Given the description of an element on the screen output the (x, y) to click on. 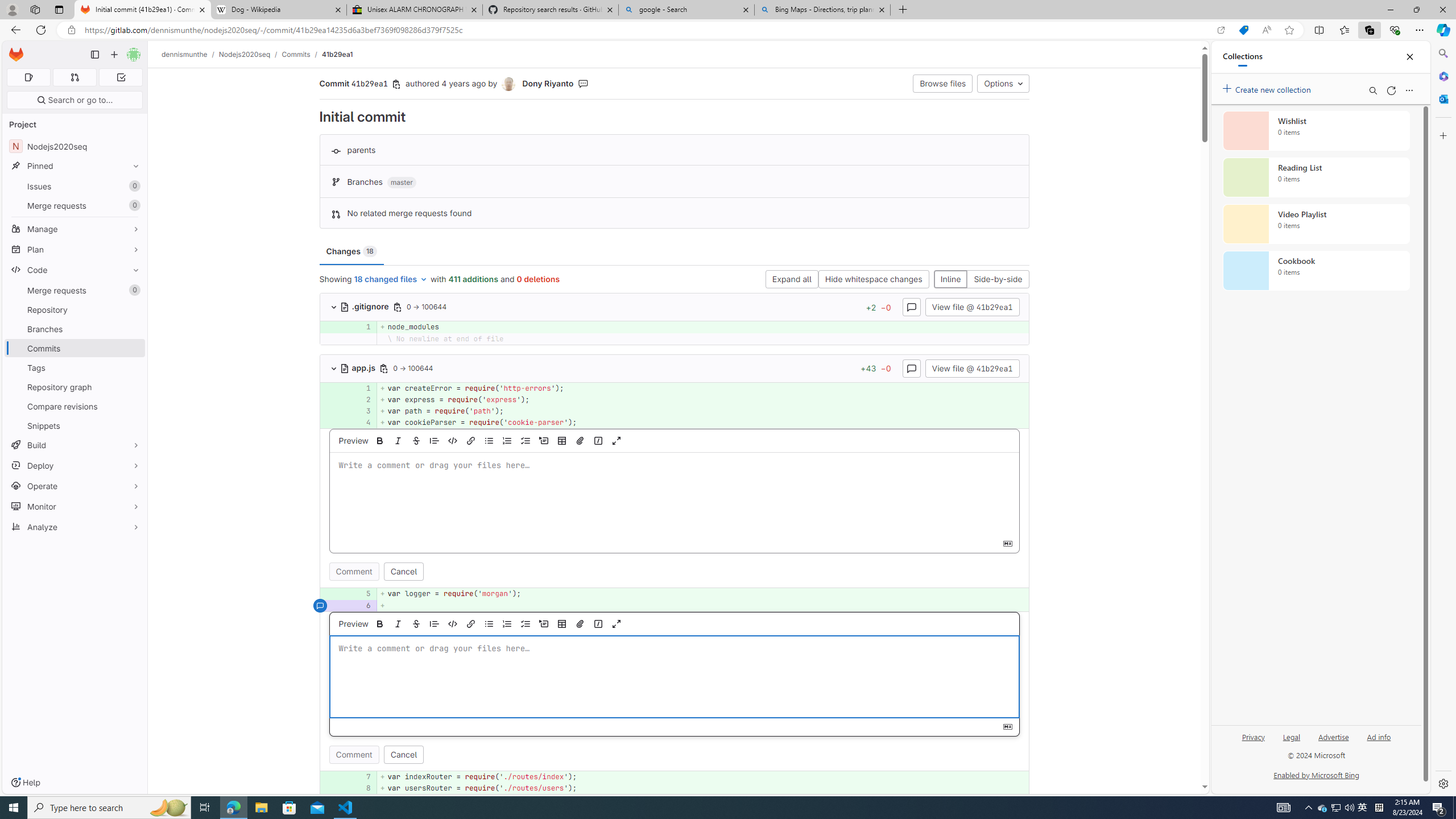
Compare revisions (74, 406)
AutomationID: 4a68969ef8e858229267b842dedf42ab5dde4d50_0_8 (674, 788)
Class: s16 (344, 368)
Insert code (452, 623)
Repository graph (74, 386)
+ var indexRouter = require('./routes/index');  (703, 776)
+ var cookieParser = require('cookie-parser');  (703, 422)
Tags (74, 367)
6 (360, 605)
Add a numbered list (506, 623)
7 (362, 776)
1 (360, 387)
